Given the description of an element on the screen output the (x, y) to click on. 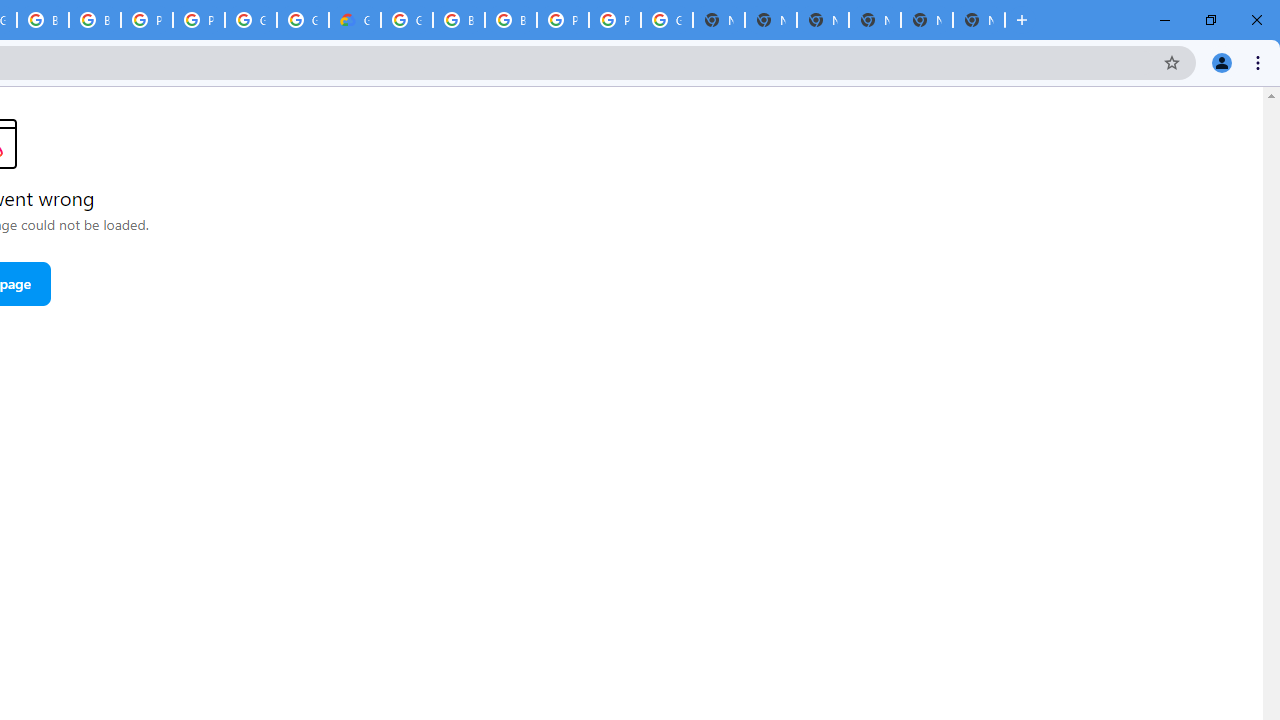
Google Cloud Estimate Summary (355, 20)
New Tab (771, 20)
Browse Chrome as a guest - Computer - Google Chrome Help (95, 20)
Google Cloud Platform (250, 20)
New Tab (978, 20)
New Tab (874, 20)
Google Cloud Platform (666, 20)
Browse Chrome as a guest - Computer - Google Chrome Help (511, 20)
Browse Chrome as a guest - Computer - Google Chrome Help (458, 20)
